Given the description of an element on the screen output the (x, y) to click on. 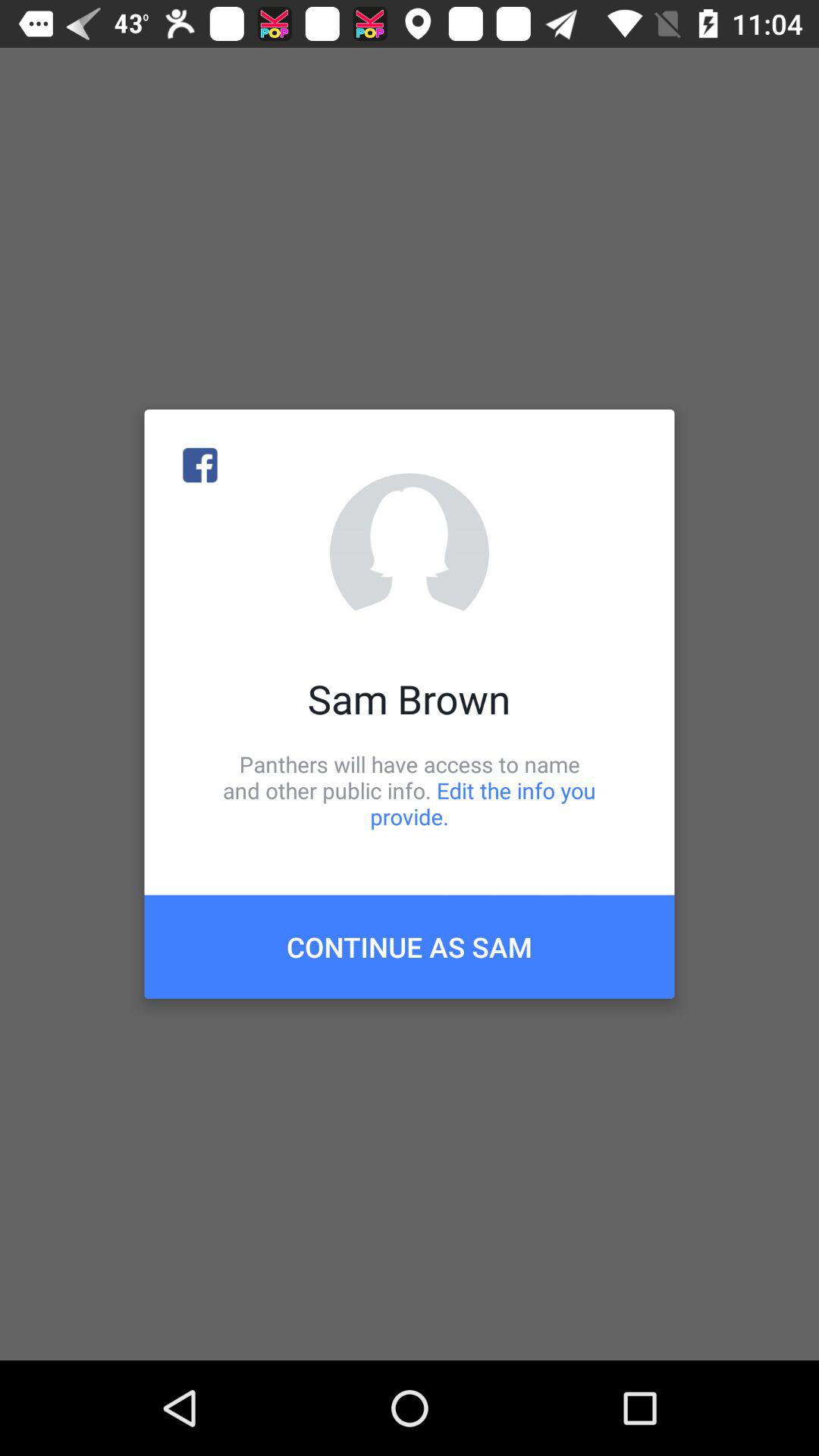
open the item above continue as sam item (409, 790)
